Given the description of an element on the screen output the (x, y) to click on. 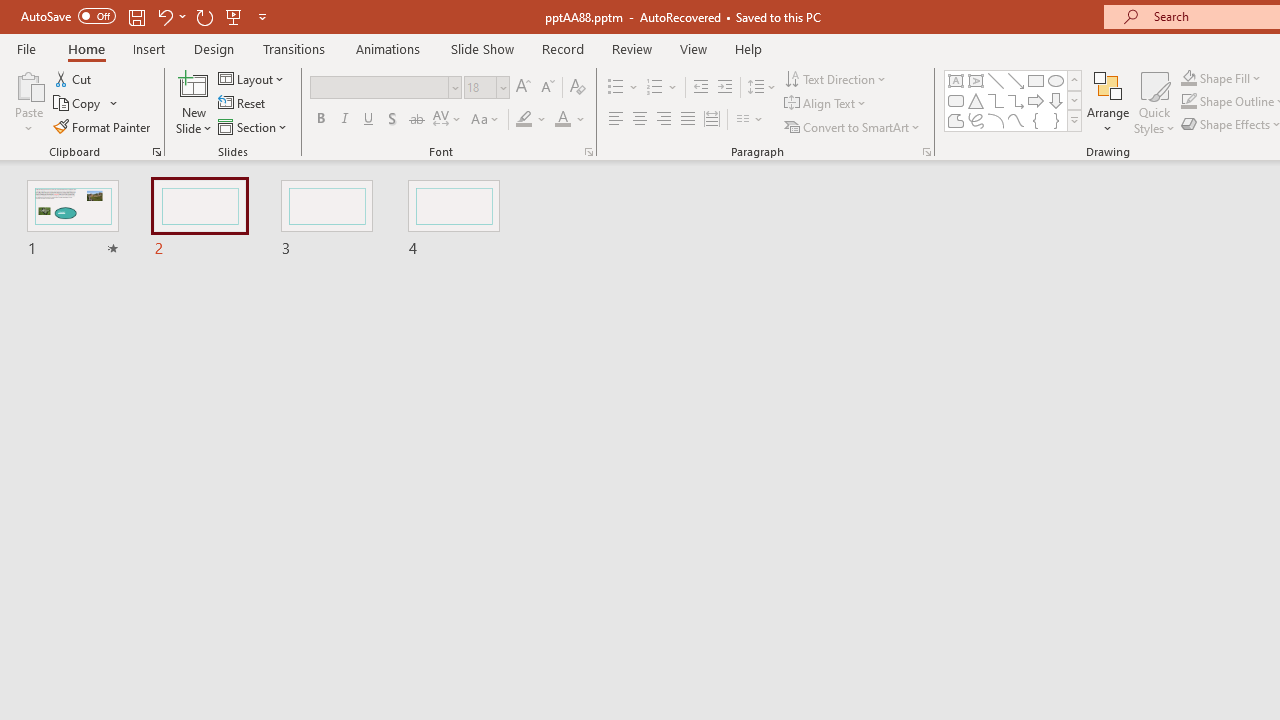
Left Brace (1035, 120)
Vertical Text Box (975, 80)
Decrease Font Size (547, 87)
Italic (344, 119)
Align Left (616, 119)
AutomationID: ShapesInsertGallery (1014, 100)
Bold (320, 119)
Center (639, 119)
Text Direction (836, 78)
Line Arrow (1016, 80)
